Given the description of an element on the screen output the (x, y) to click on. 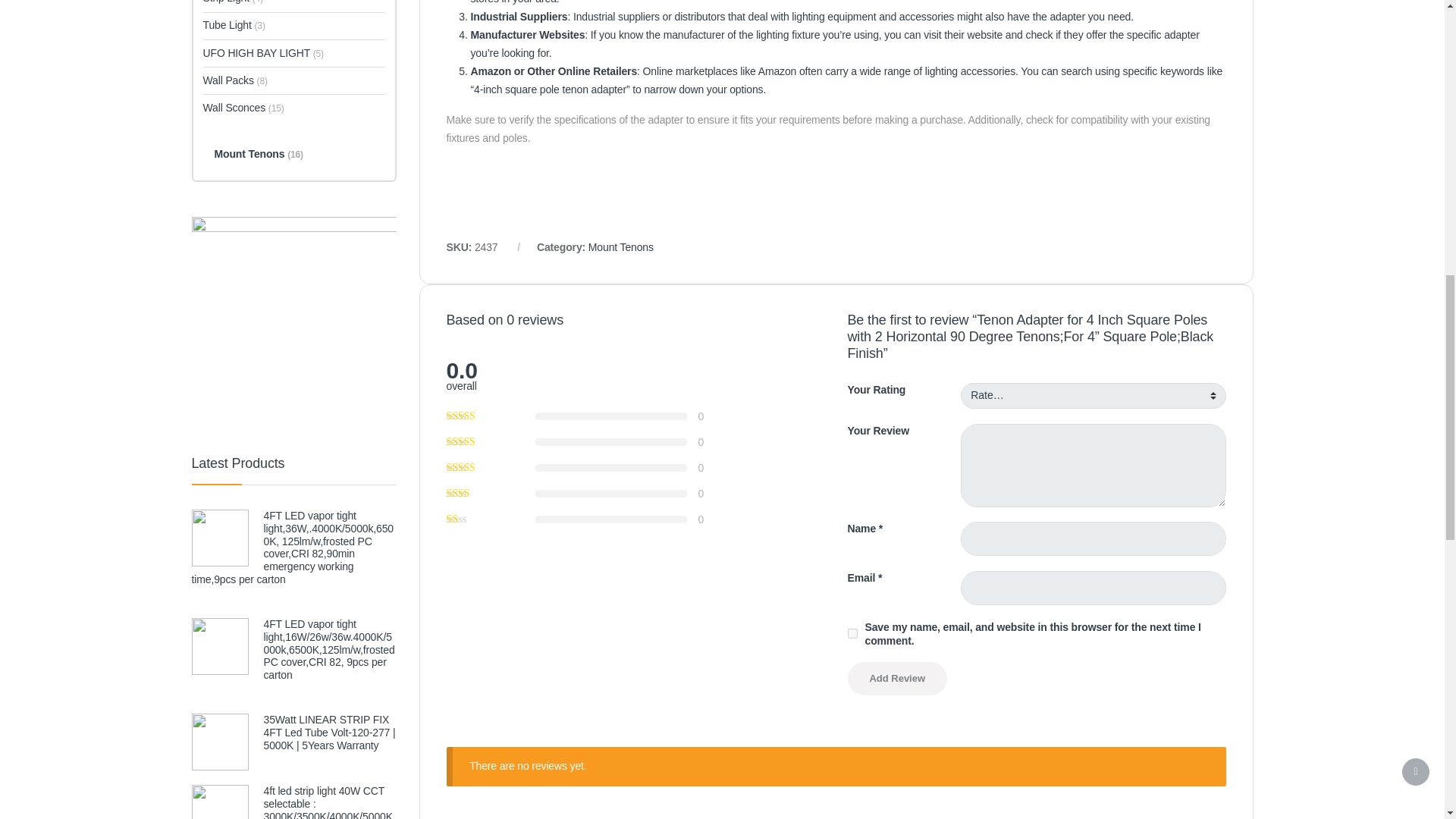
yes (852, 633)
Add Review (897, 678)
